Given the description of an element on the screen output the (x, y) to click on. 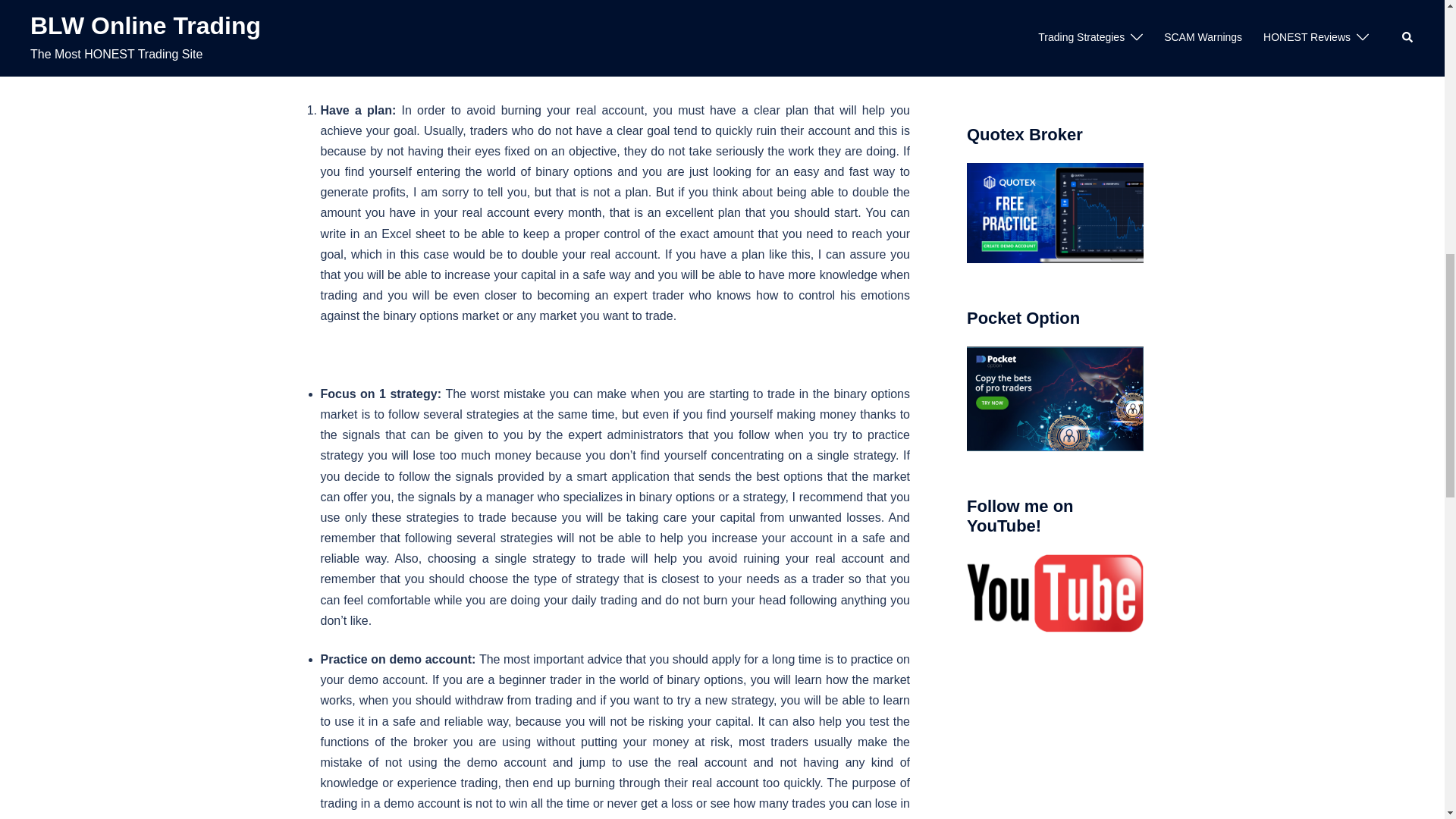
Pocket Option (1054, 398)
Follow me on YouTube! (1054, 593)
Quotex Broker (1054, 212)
